Given the description of an element on the screen output the (x, y) to click on. 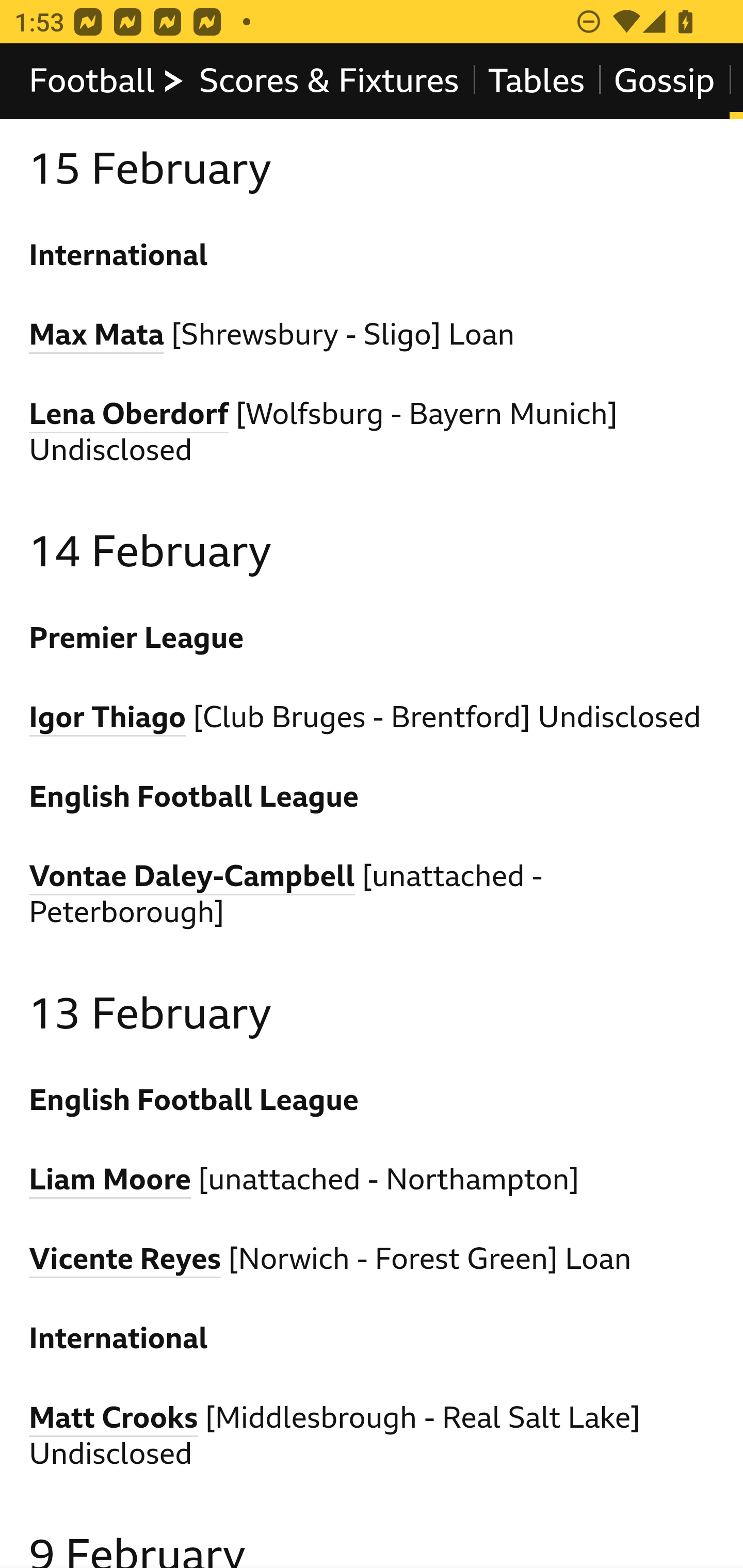
Junior Hoilett (124, 48)
Max Mata (96, 337)
Lena Oberdorf (128, 416)
Igor Thiago (107, 720)
Vontae Daley-Campbell (191, 878)
Liam Moore (110, 1181)
Vicente Reyes (125, 1262)
Matt Crooks (113, 1420)
